Given the description of an element on the screen output the (x, y) to click on. 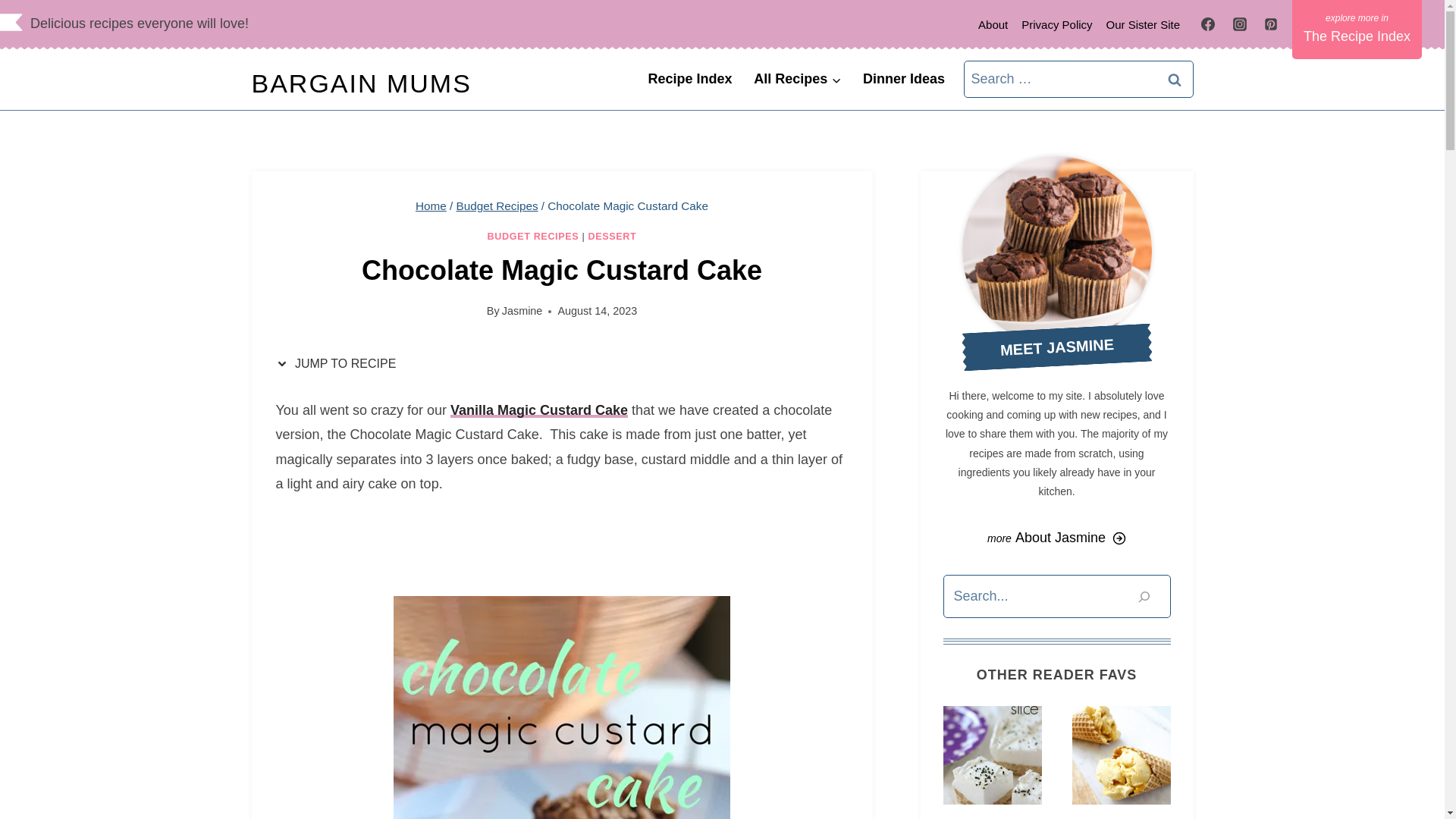
Jasmine (522, 310)
Search (1174, 78)
Dinner Ideas (903, 78)
DESSERT (612, 235)
Recipe Index (689, 78)
Our Sister Site (1143, 24)
About (992, 24)
Privacy Policy (1056, 24)
BARGAIN MUMS (361, 83)
JUMP TO RECIPE (340, 364)
The Recipe Index (1357, 29)
Search (1174, 78)
All Recipes (796, 78)
Home (430, 205)
Search (1174, 78)
